Given the description of an element on the screen output the (x, y) to click on. 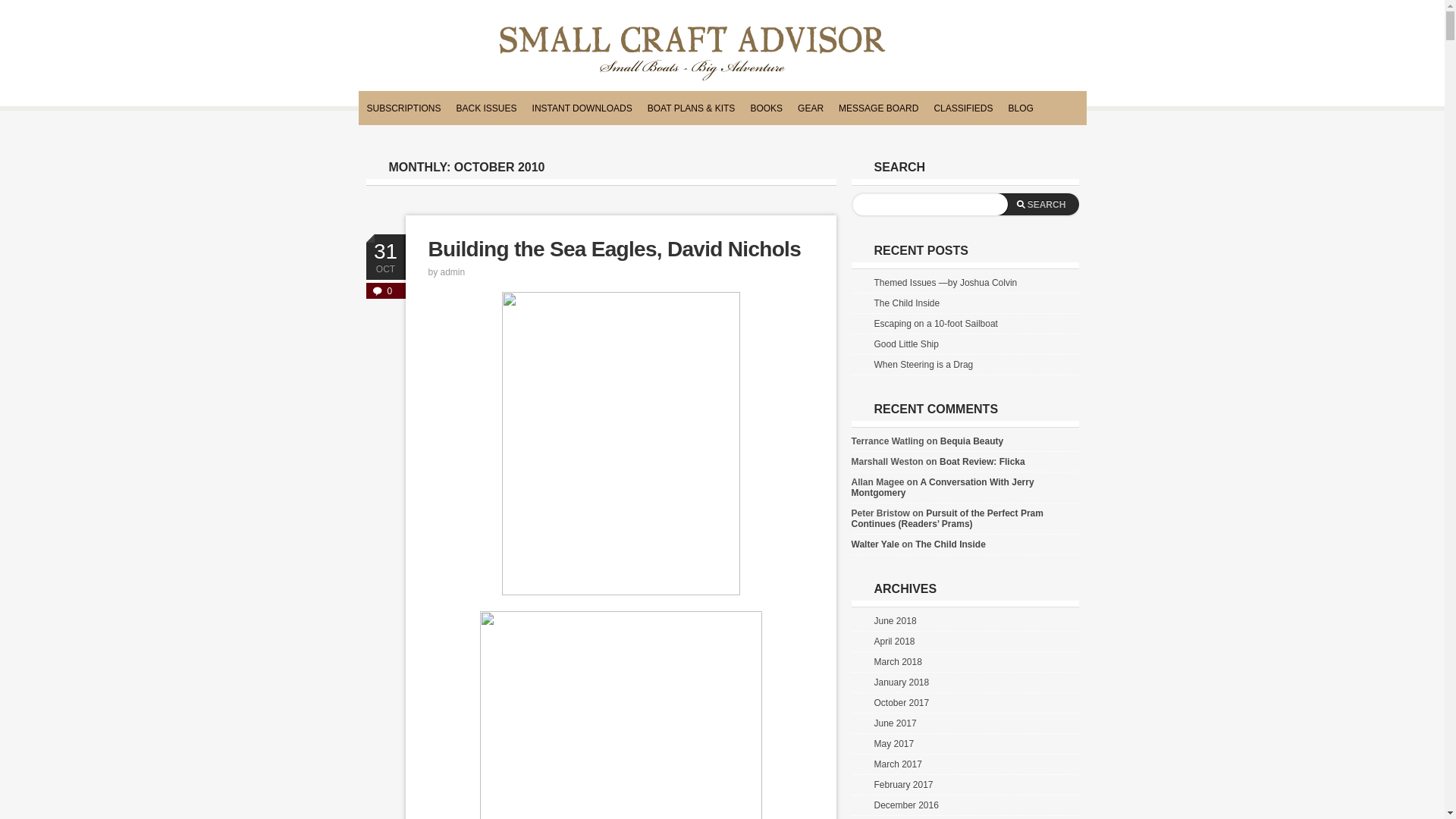
Search (1036, 204)
SUBSCRIPTIONS (403, 108)
INSTANT DOWNLOADS (582, 108)
admin (453, 271)
0 (384, 290)
Building the Sea Eagles, David Nichols (614, 249)
Posts by admin (453, 271)
Back Issues (486, 108)
BOOKS (766, 108)
Downloadable Back Issues (582, 108)
Small Craft Advisors (692, 55)
Building the Sea Eagles, David Nichols (614, 249)
Boat Plans (691, 108)
Subscriptions (403, 108)
CLASSIFIEDS (963, 108)
